Given the description of an element on the screen output the (x, y) to click on. 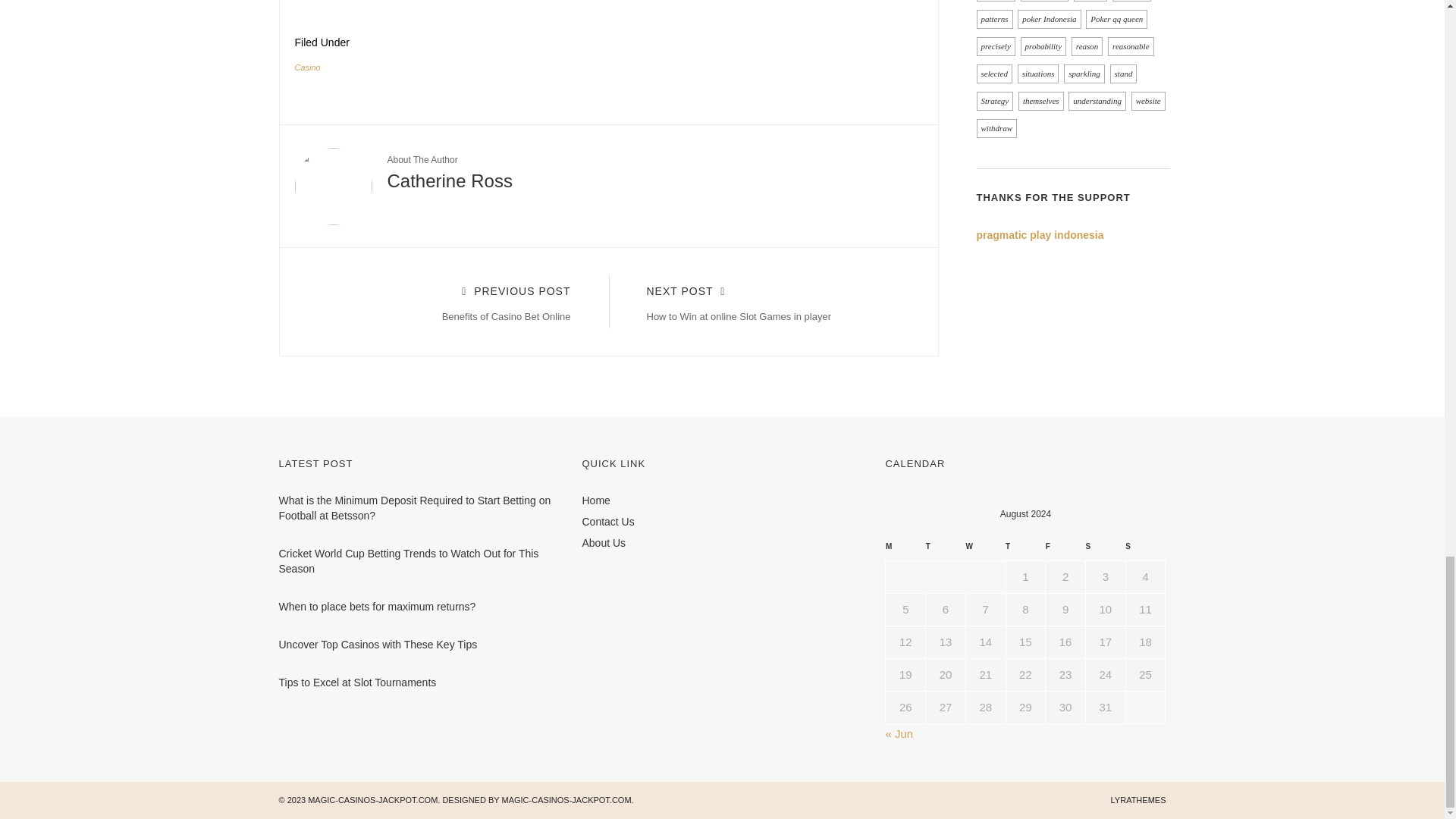
Tuesday (946, 550)
Sunday (1145, 550)
Saturday (775, 301)
Casino (1104, 550)
Monday (441, 301)
Wednesday (307, 67)
Thursday (905, 550)
Friday (985, 550)
